Given the description of an element on the screen output the (x, y) to click on. 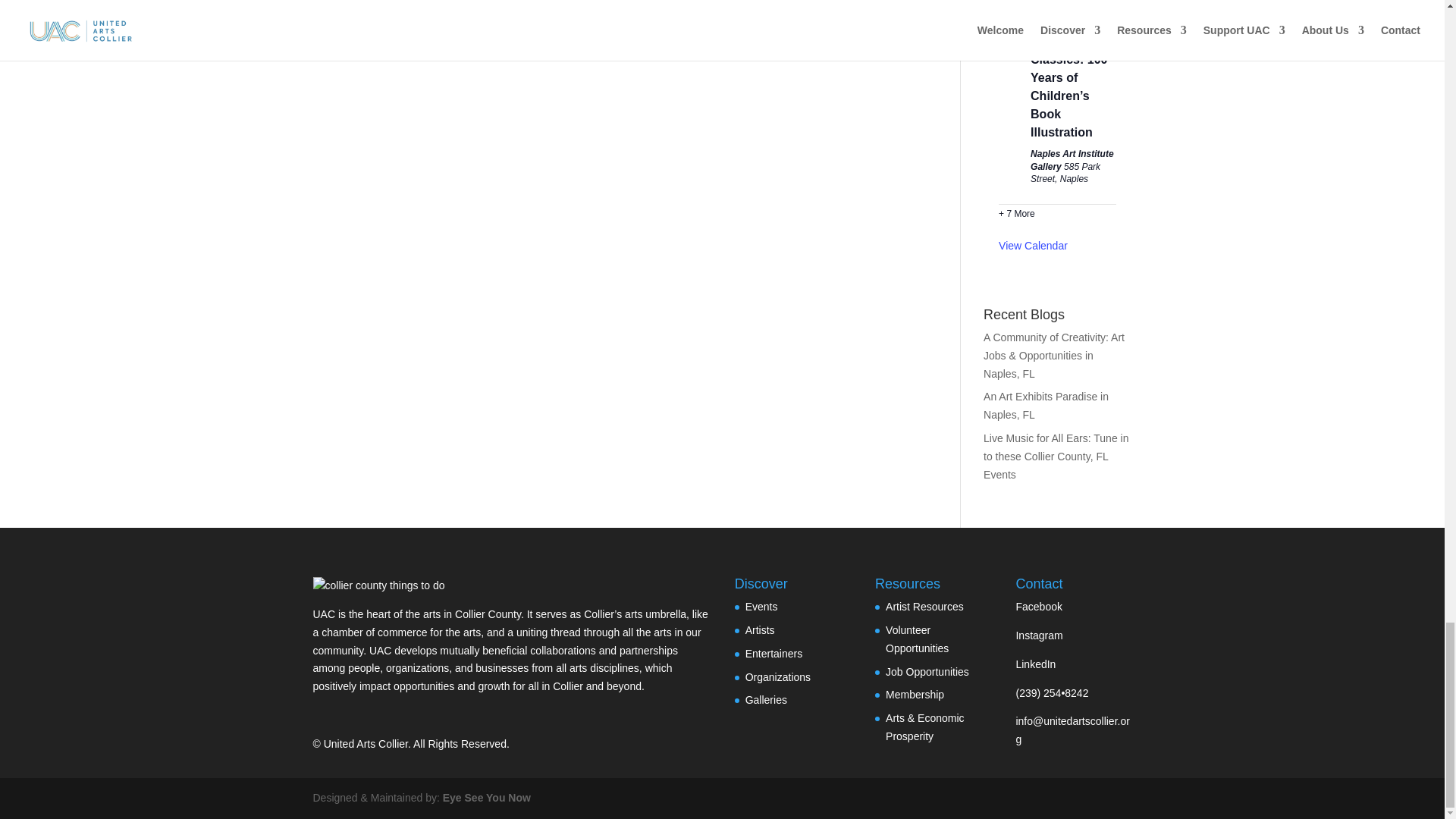
Event Series (1109, 5)
